Given the description of an element on the screen output the (x, y) to click on. 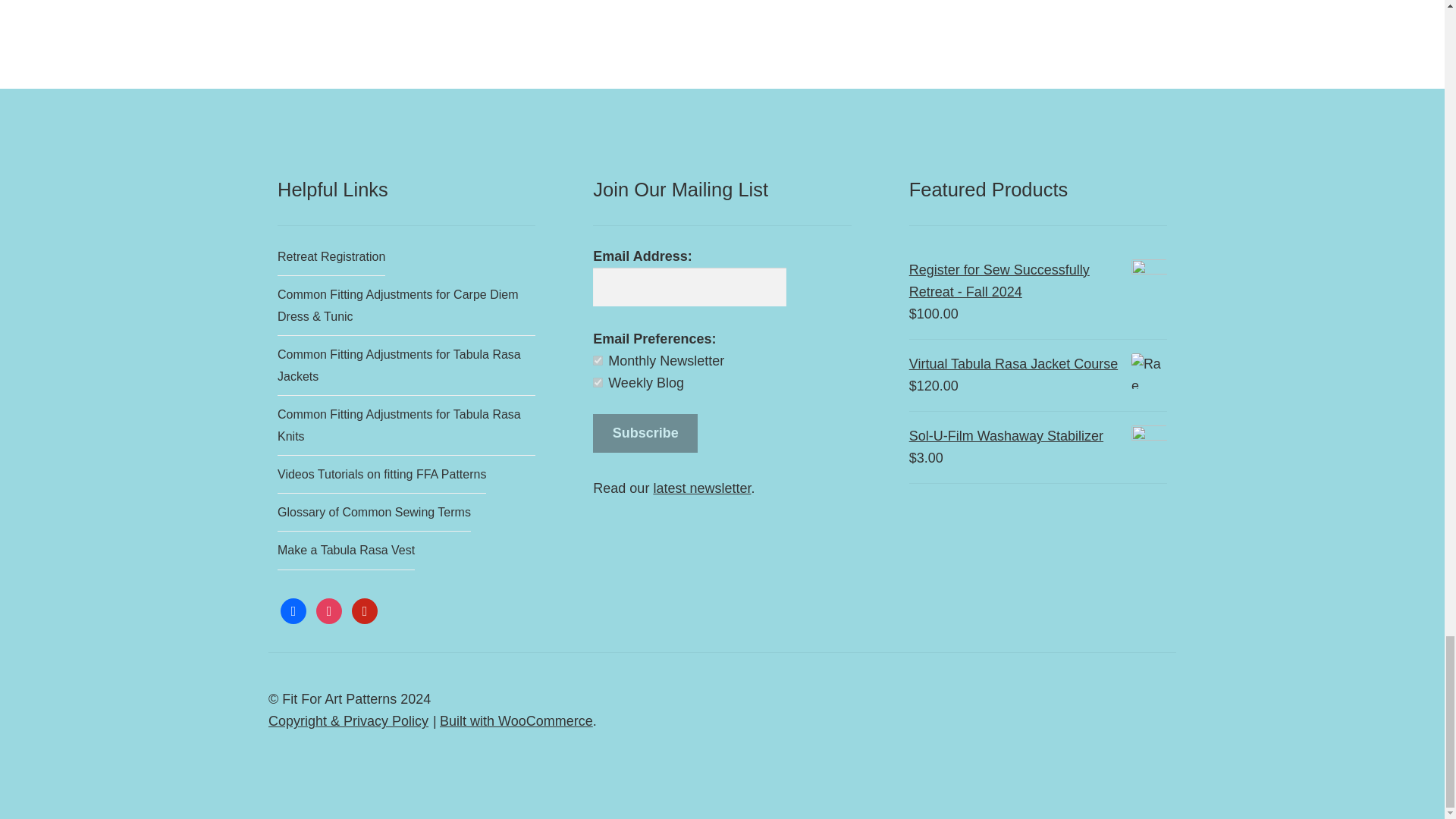
Facebook (293, 610)
Instagram (328, 610)
1 (597, 360)
2 (597, 382)
Subscribe (644, 433)
